Given the description of an element on the screen output the (x, y) to click on. 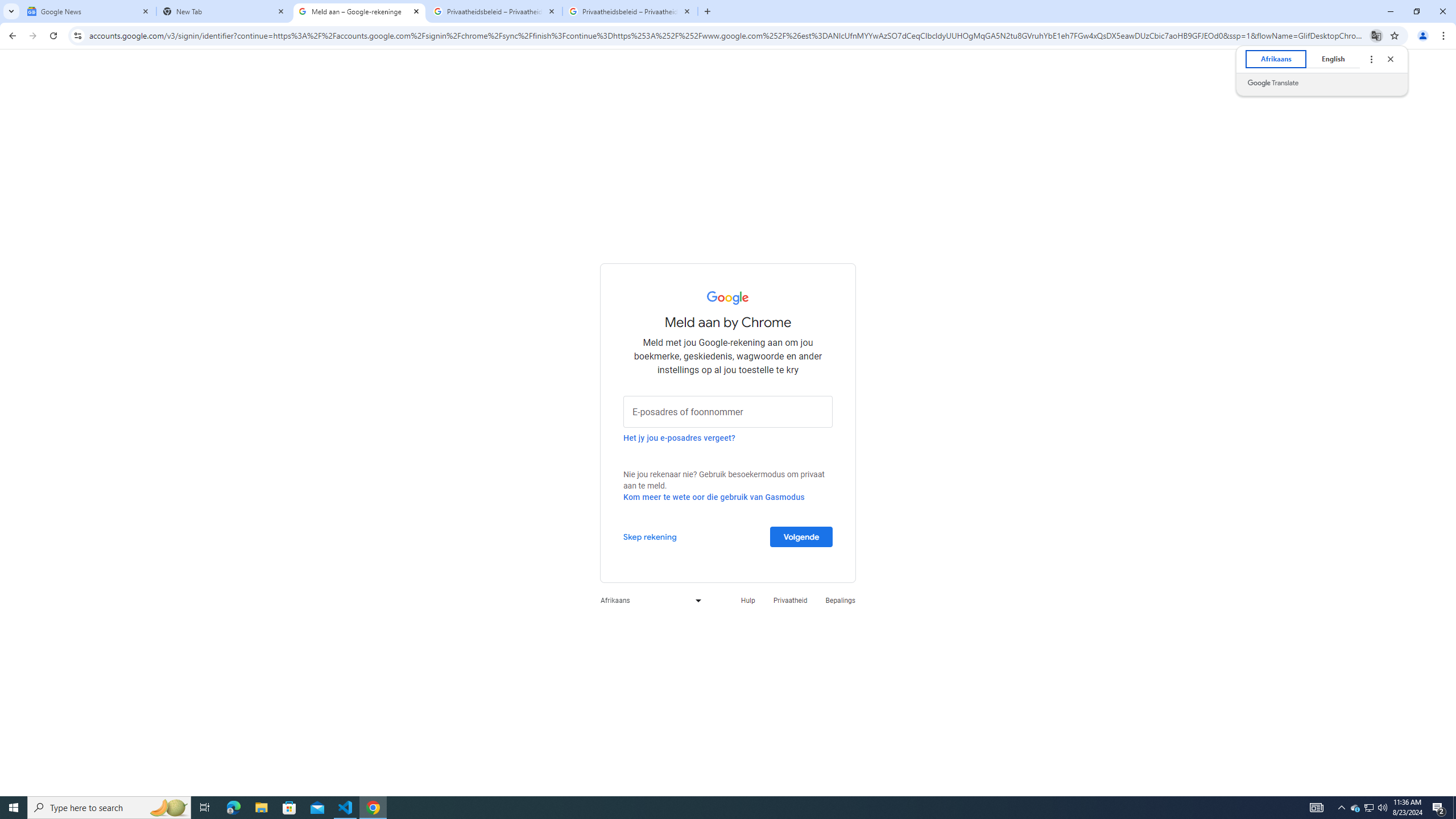
Visual Studio Code - 1 running window (345, 807)
Q2790: 100% (1382, 807)
Afrikaans (1275, 58)
Privaatheid (790, 600)
Translate options (1370, 58)
E-posadres of foonnommer (727, 411)
Hulp (747, 600)
Microsoft Edge (233, 807)
Google Chrome - 1 running window (373, 807)
